Given the description of an element on the screen output the (x, y) to click on. 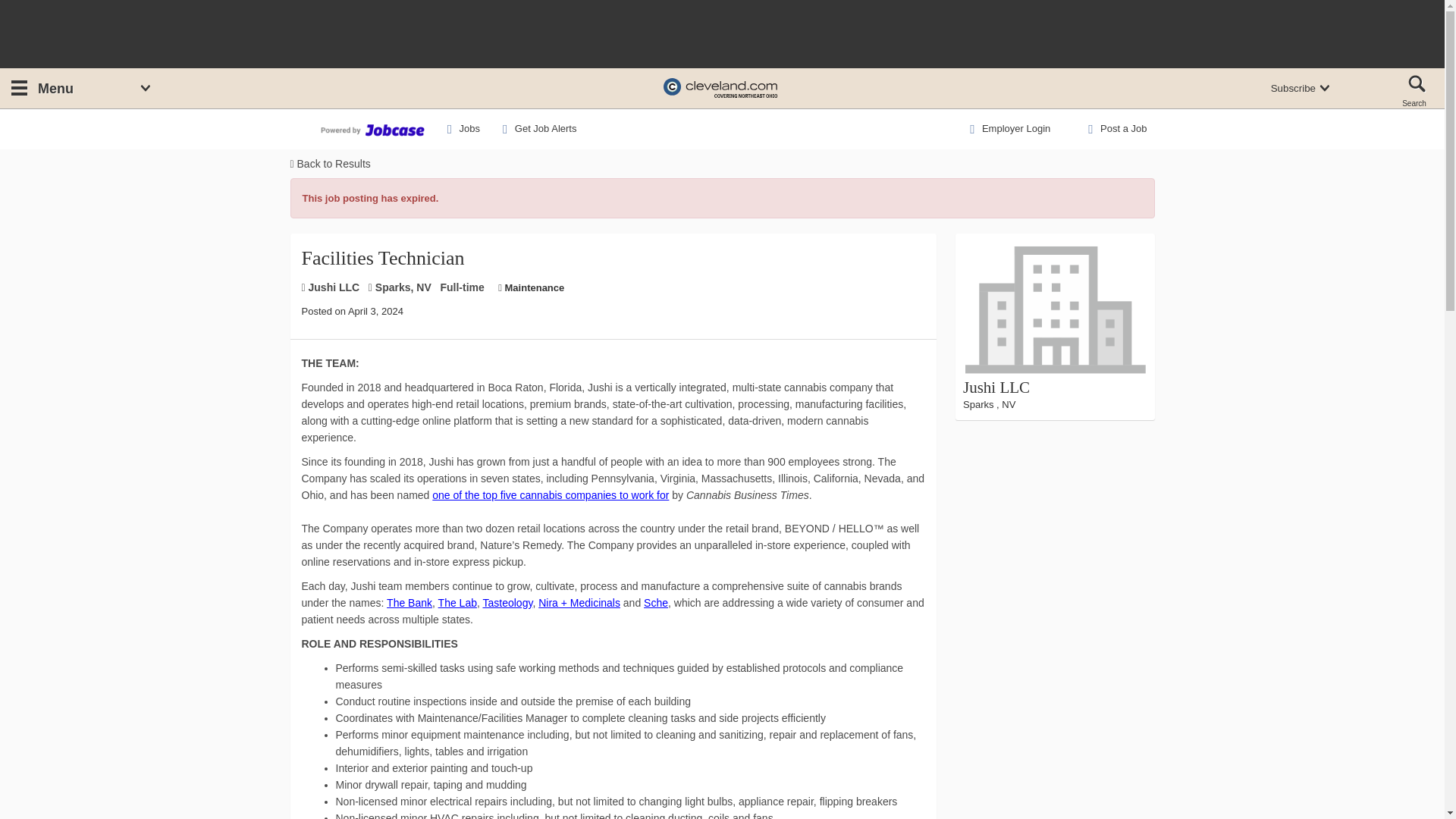
Cleveland.com (720, 87)
Cleveland.com (720, 87)
Menu (40, 89)
